Given the description of an element on the screen output the (x, y) to click on. 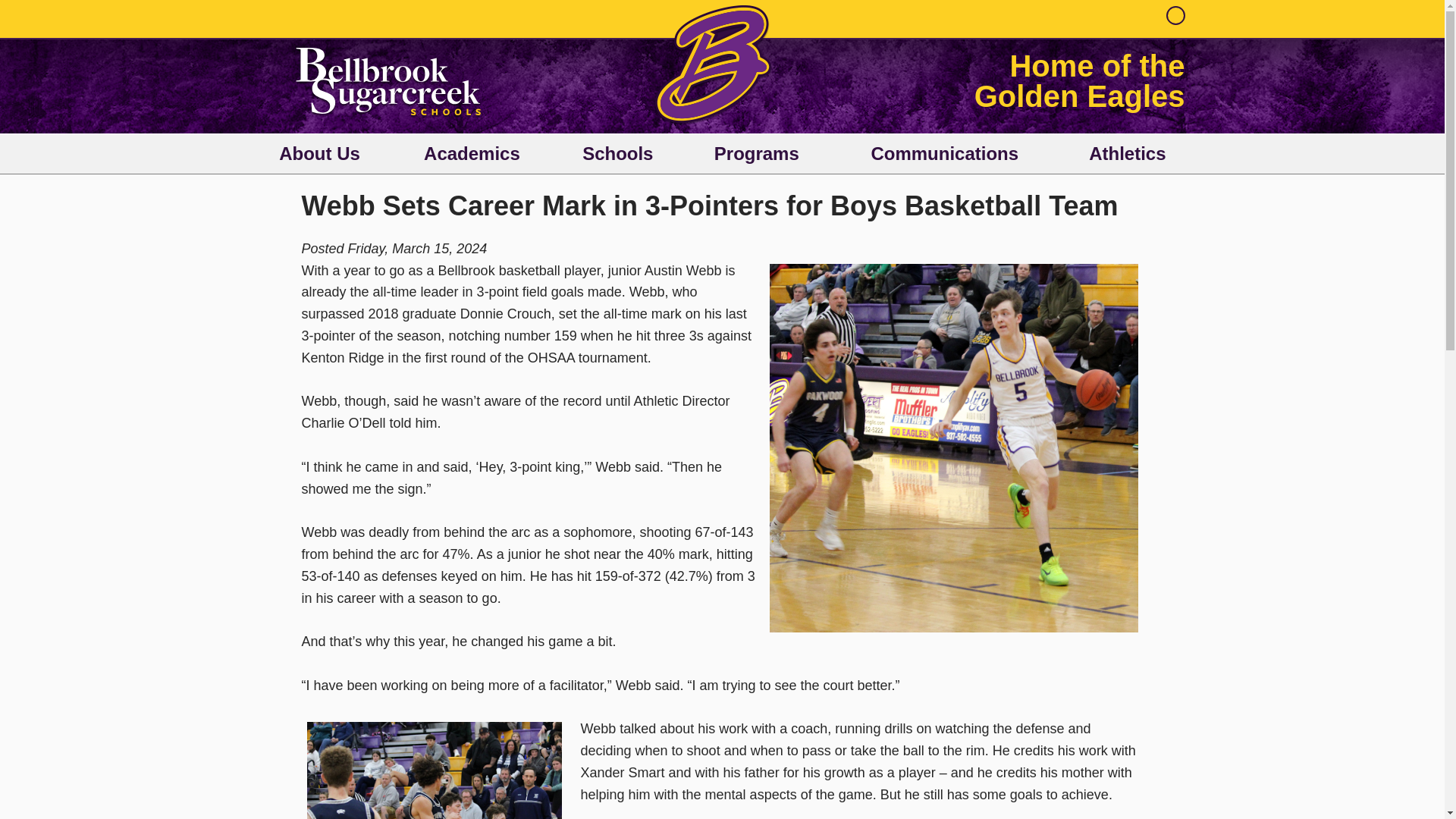
Academics (472, 153)
About Us (319, 153)
Schools (617, 153)
